Given the description of an element on the screen output the (x, y) to click on. 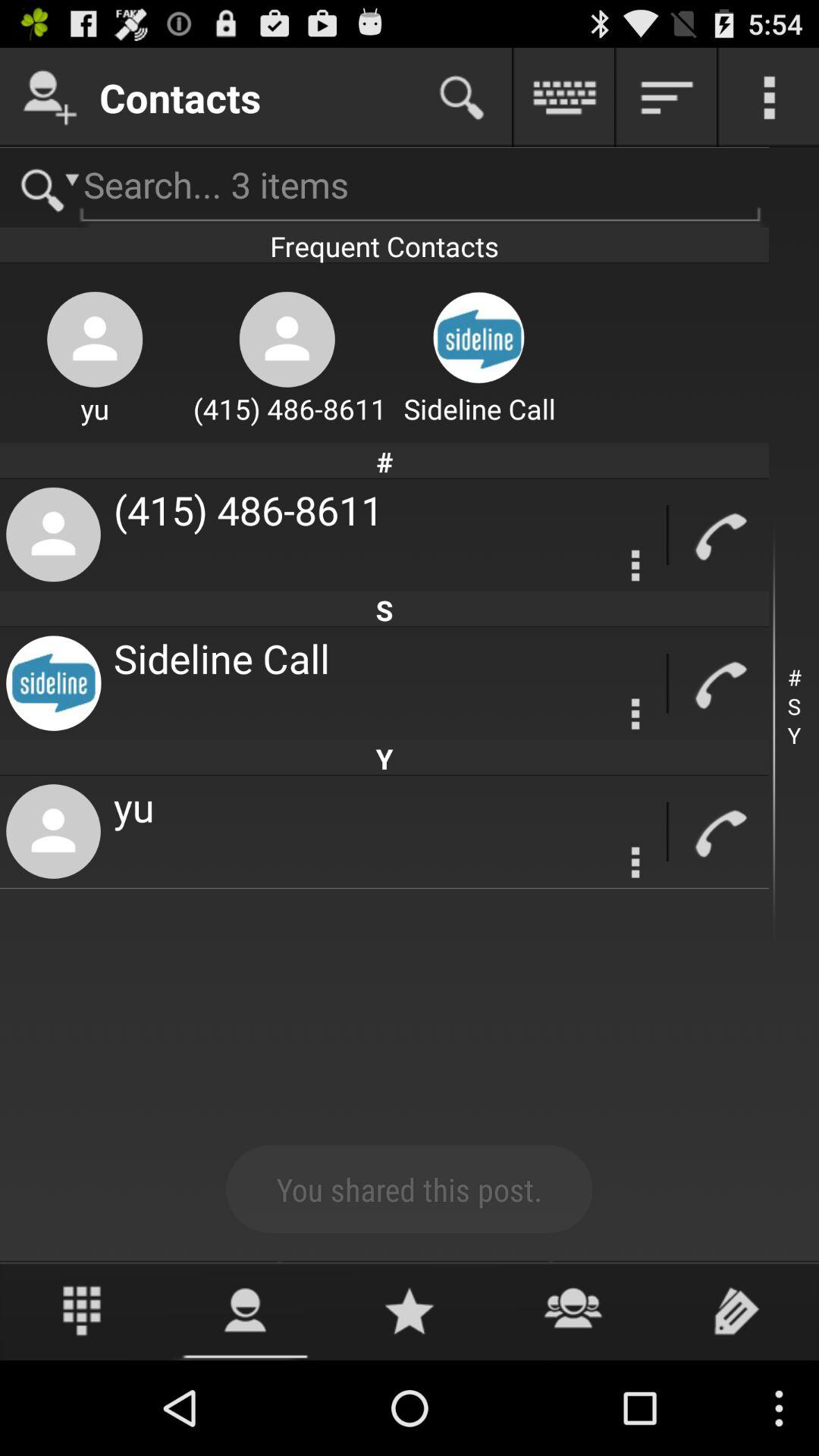
contact plus option (49, 97)
